Given the description of an element on the screen output the (x, y) to click on. 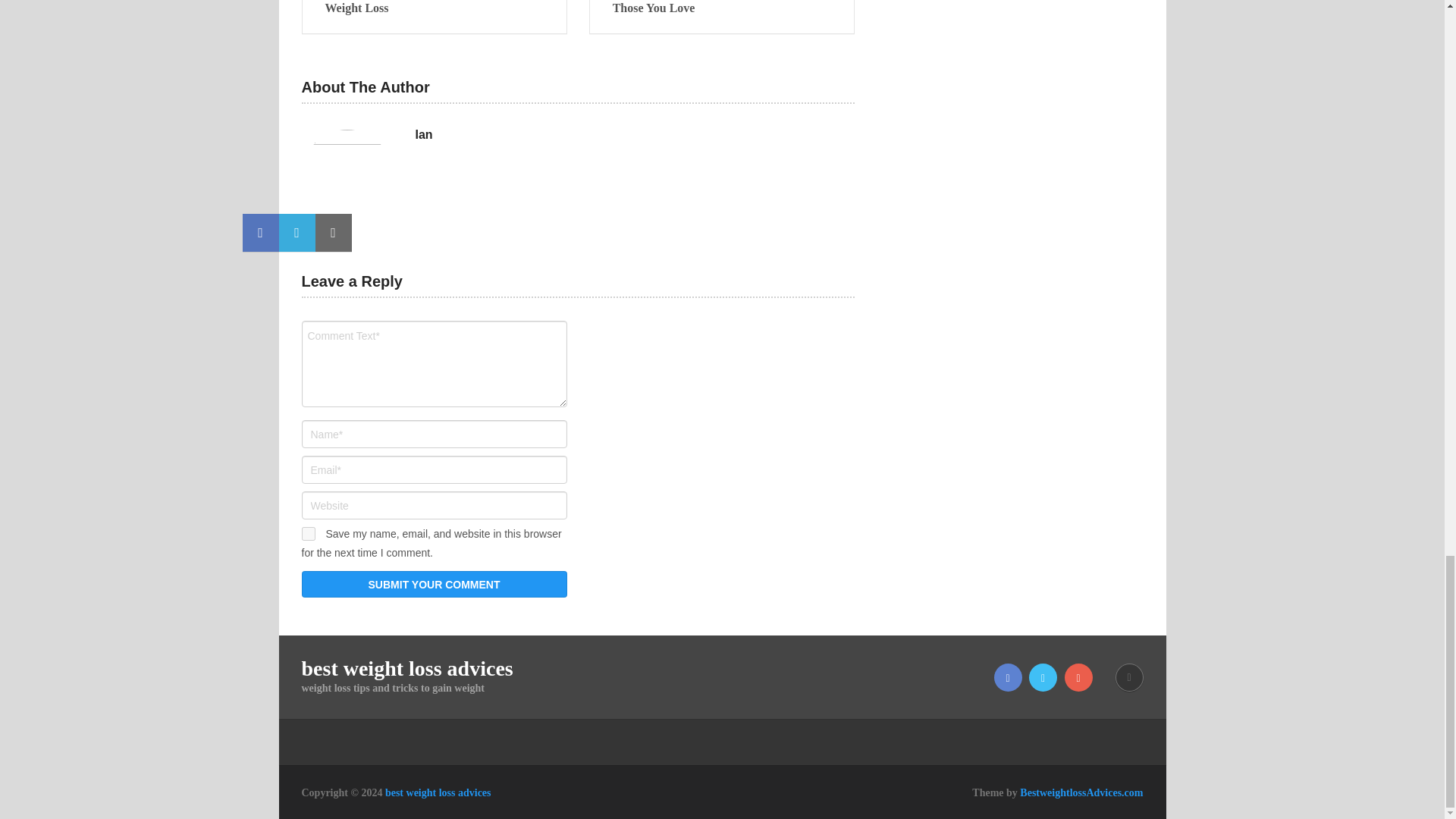
yes (308, 533)
Tips To Arm You In The War Against Weight Loss (433, 8)
Submit Your Comment (434, 583)
Healthy Weight Loss Tips For You And Those You Love (721, 8)
best weight loss advices (438, 792)
best weight loss advices (407, 668)
Tips To Arm You In The War Against Weight Loss (433, 8)
BestweightlossAdvices.com (1081, 792)
 weight loss tips and tricks to gain weight (438, 792)
Ian (423, 134)
Submit Your Comment (434, 583)
Healthy Weight Loss Tips For You And Those You Love (721, 8)
